Given the description of an element on the screen output the (x, y) to click on. 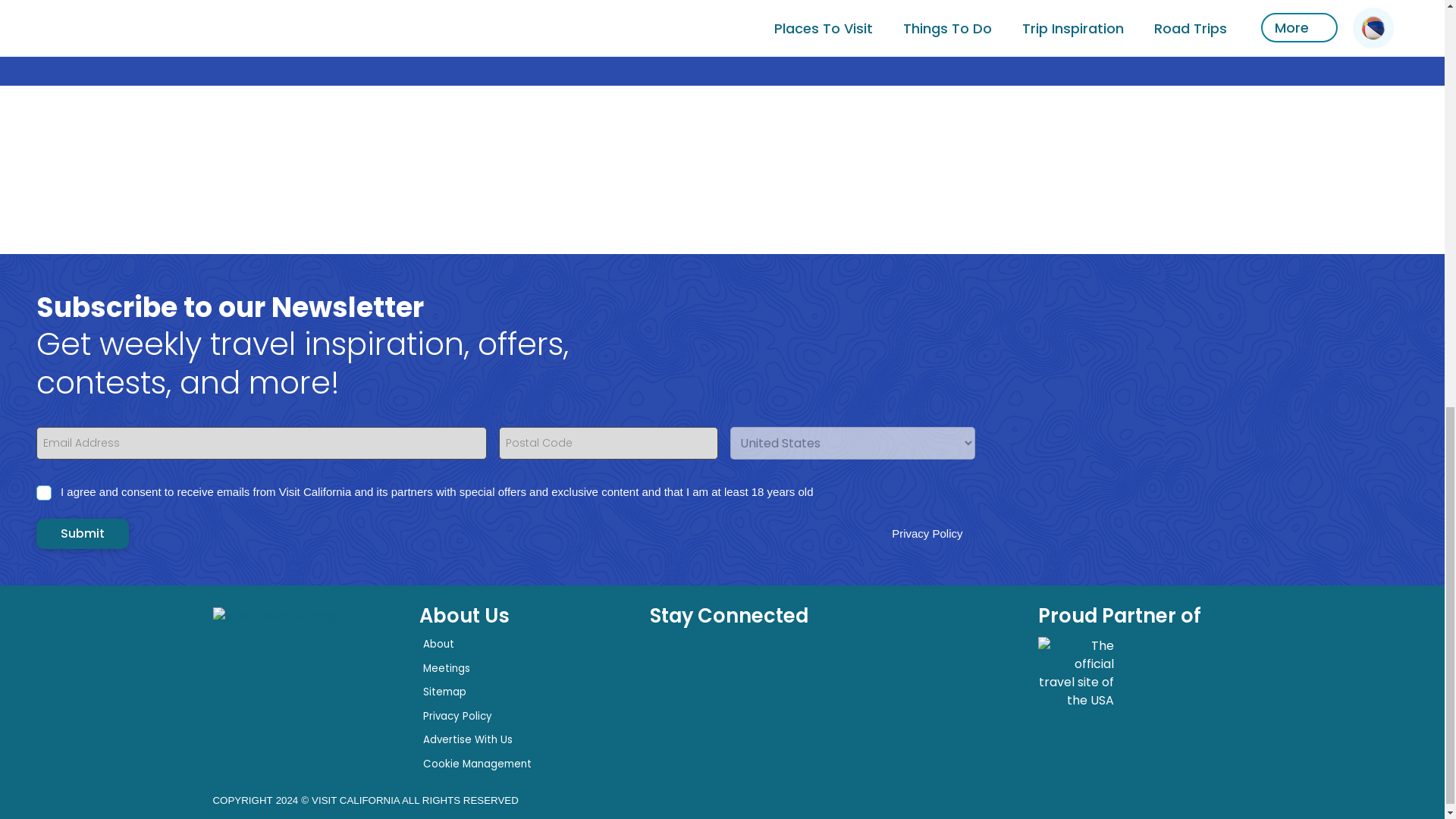
newsletter request (757, 719)
Pinterest (849, 669)
Meetings (446, 667)
Privacy Policy (457, 716)
Sacramento Zoo (1007, 18)
About (438, 644)
YouTube (667, 719)
Advertise With Us (467, 739)
Facebook (667, 669)
Submit (82, 533)
